Given the description of an element on the screen output the (x, y) to click on. 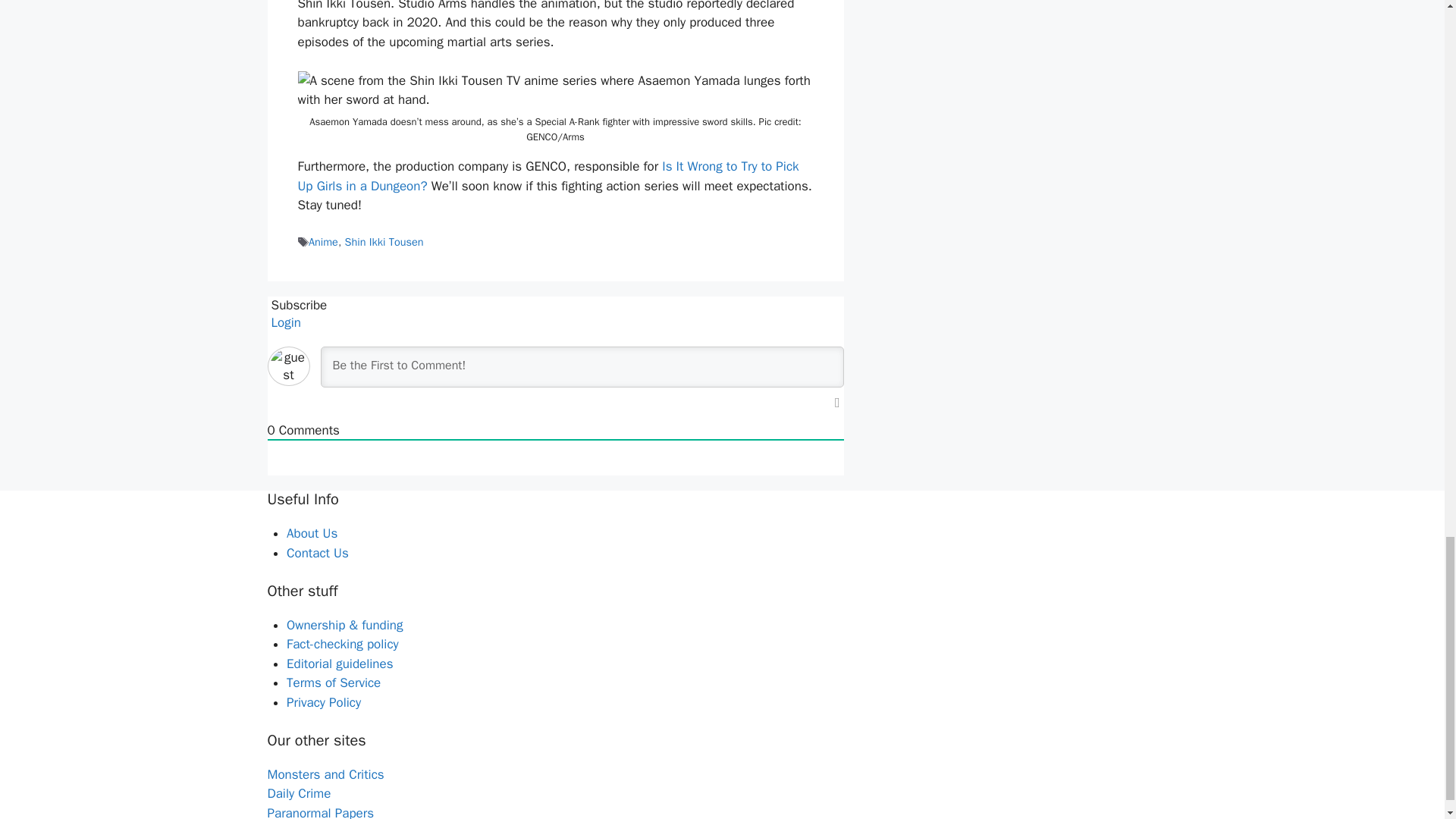
Shin Ikki Tousen (384, 241)
Is It Wrong to Try to Pick Up Girls in a Dungeon? (547, 176)
Login (283, 322)
Anime (322, 241)
